Given the description of an element on the screen output the (x, y) to click on. 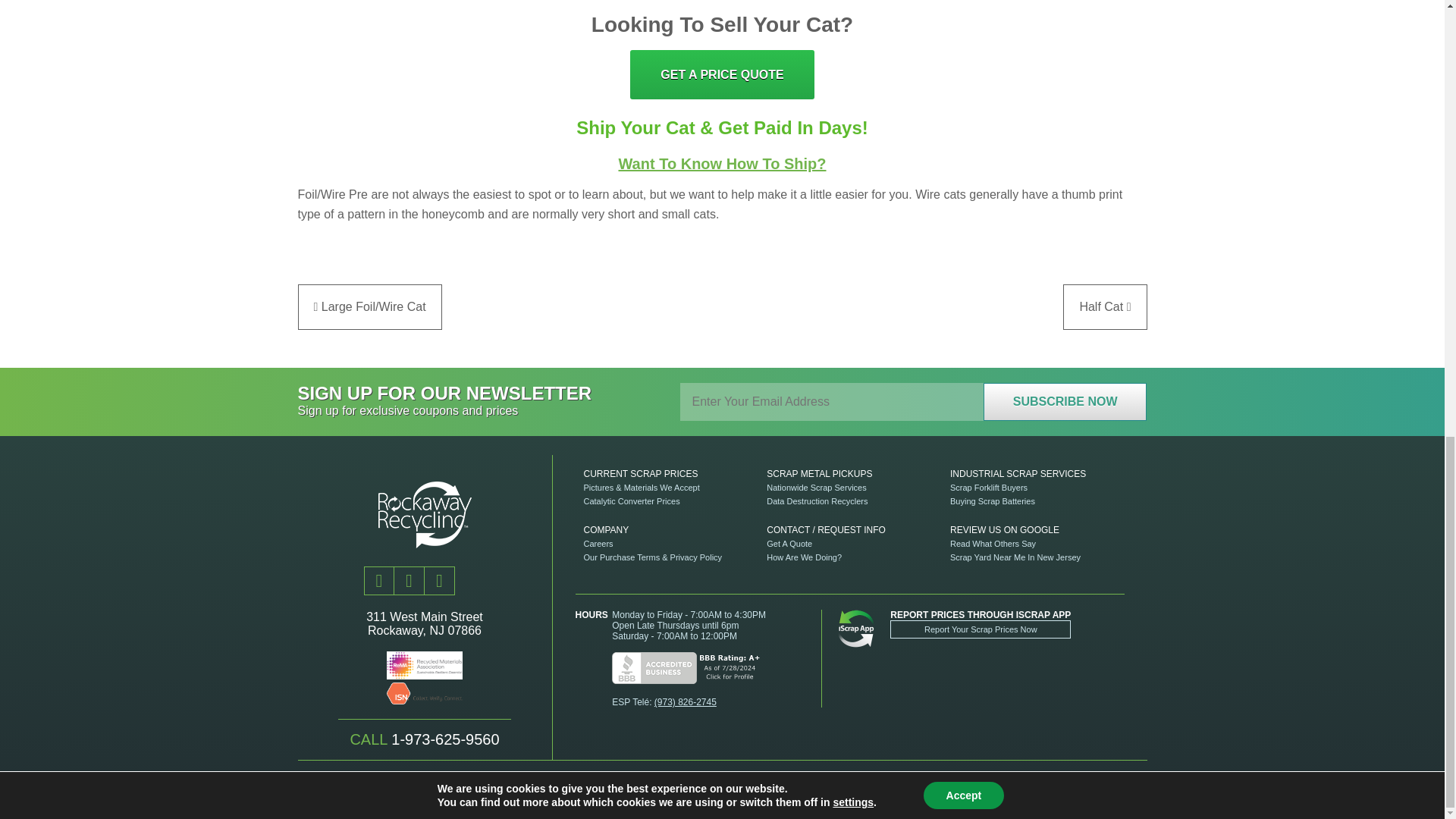
Review Us on Google (1004, 530)
Careers (597, 543)
Nationwide Scrap Services (816, 487)
Catalytic Converter Scrap Prices (631, 501)
Read What Others Say (992, 543)
Scrap Yard Near Me In New Jersey (1015, 556)
Scrap Metal Pickups In New Jersey (819, 473)
